Given the description of an element on the screen output the (x, y) to click on. 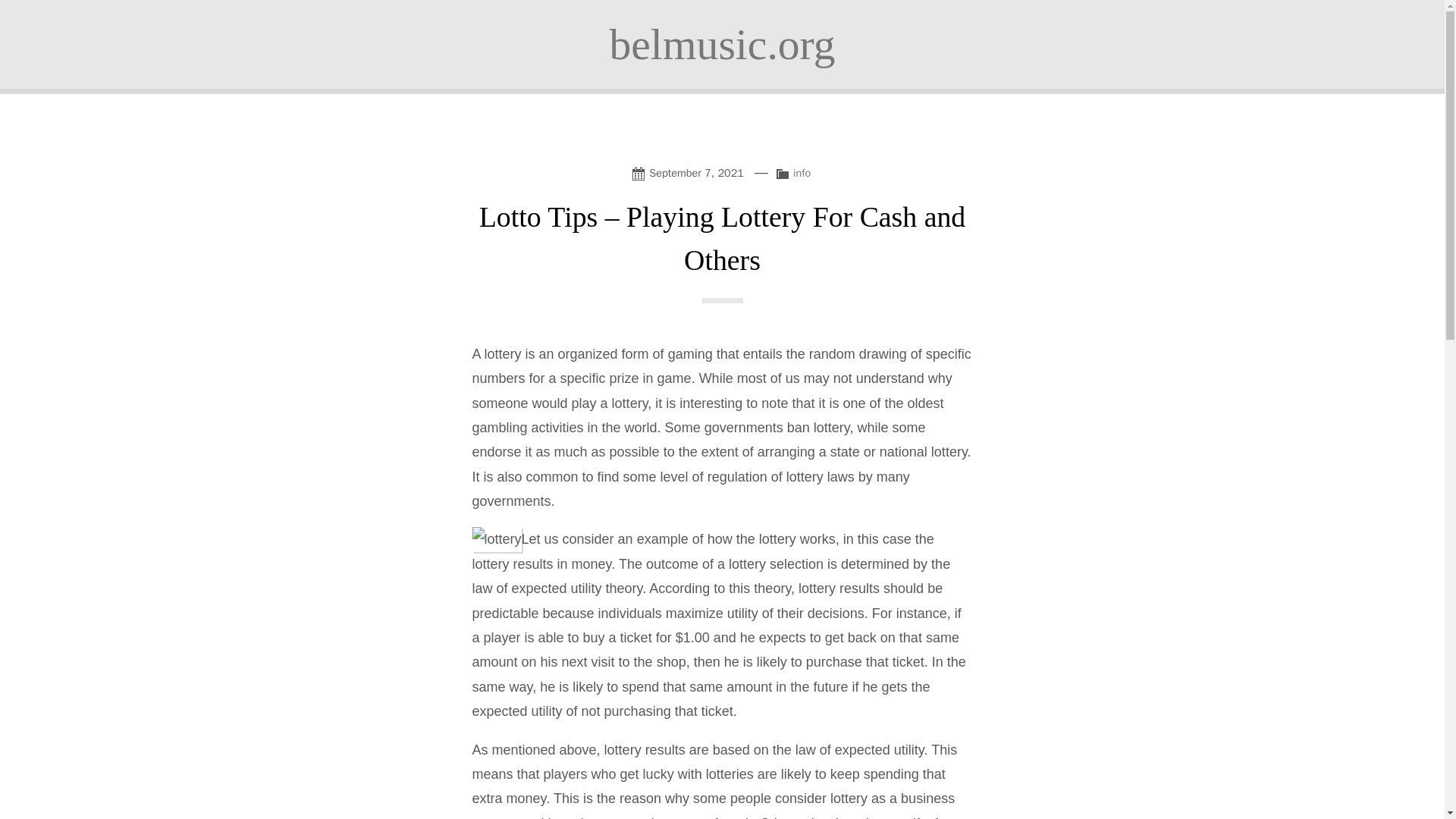
info (801, 172)
belmusic.org (721, 43)
